Given the description of an element on the screen output the (x, y) to click on. 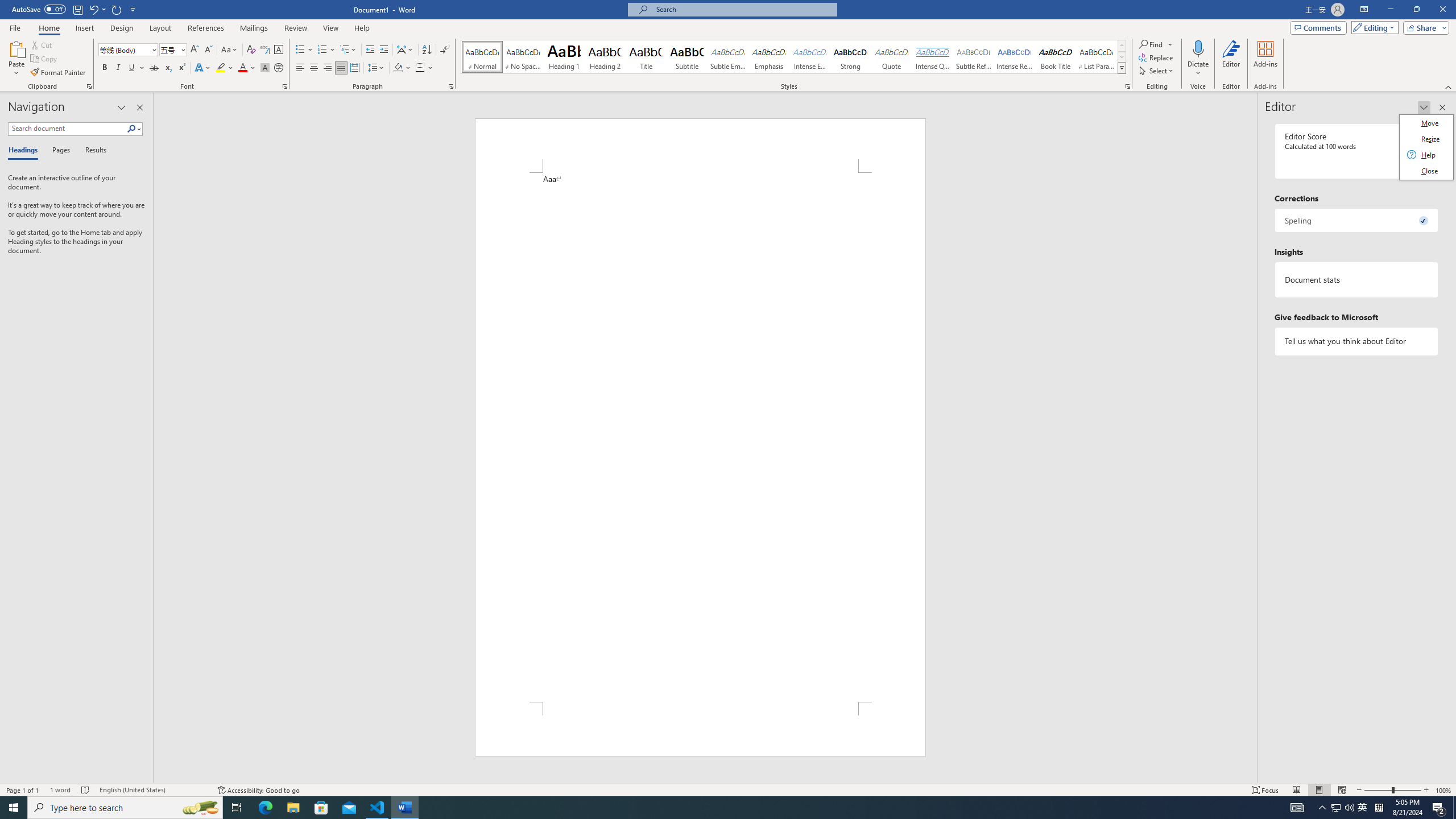
Tray Input Indicator - Chinese (Simplified, China) (1378, 807)
Visual Studio Code - 1 running window (377, 807)
Microsoft Edge (265, 807)
Search highlights icon opens search home window (199, 807)
Word - 1 running window (405, 807)
Class: Net UI Tool Window (1335, 807)
Notification Chevron (1426, 147)
Task View (1322, 807)
Show desktop (236, 807)
AutomationID: 4105 (1454, 807)
Start (1297, 807)
